Given the description of an element on the screen output the (x, y) to click on. 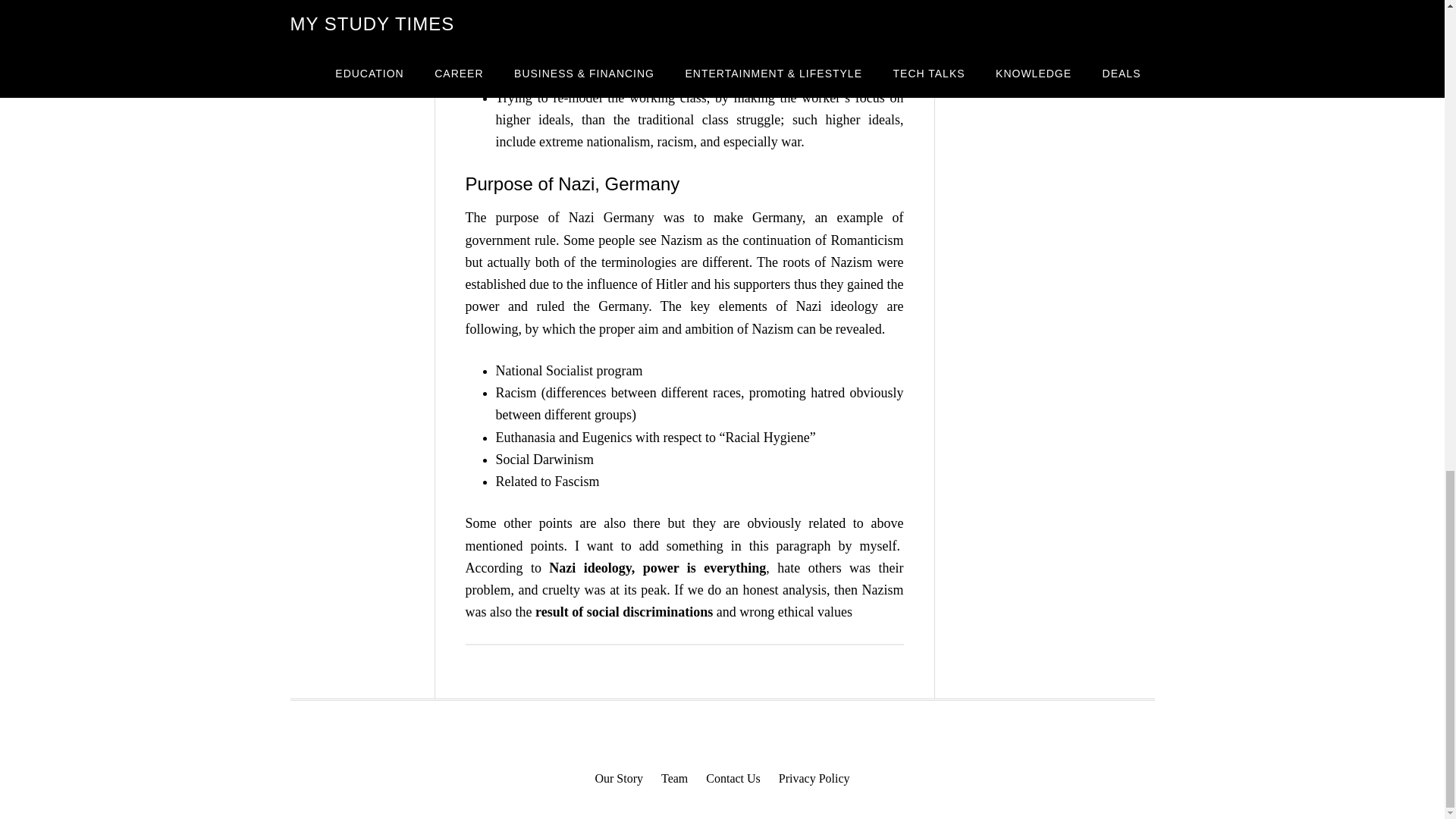
Advertisement (346, 1)
Advertisement (1058, 17)
